Given the description of an element on the screen output the (x, y) to click on. 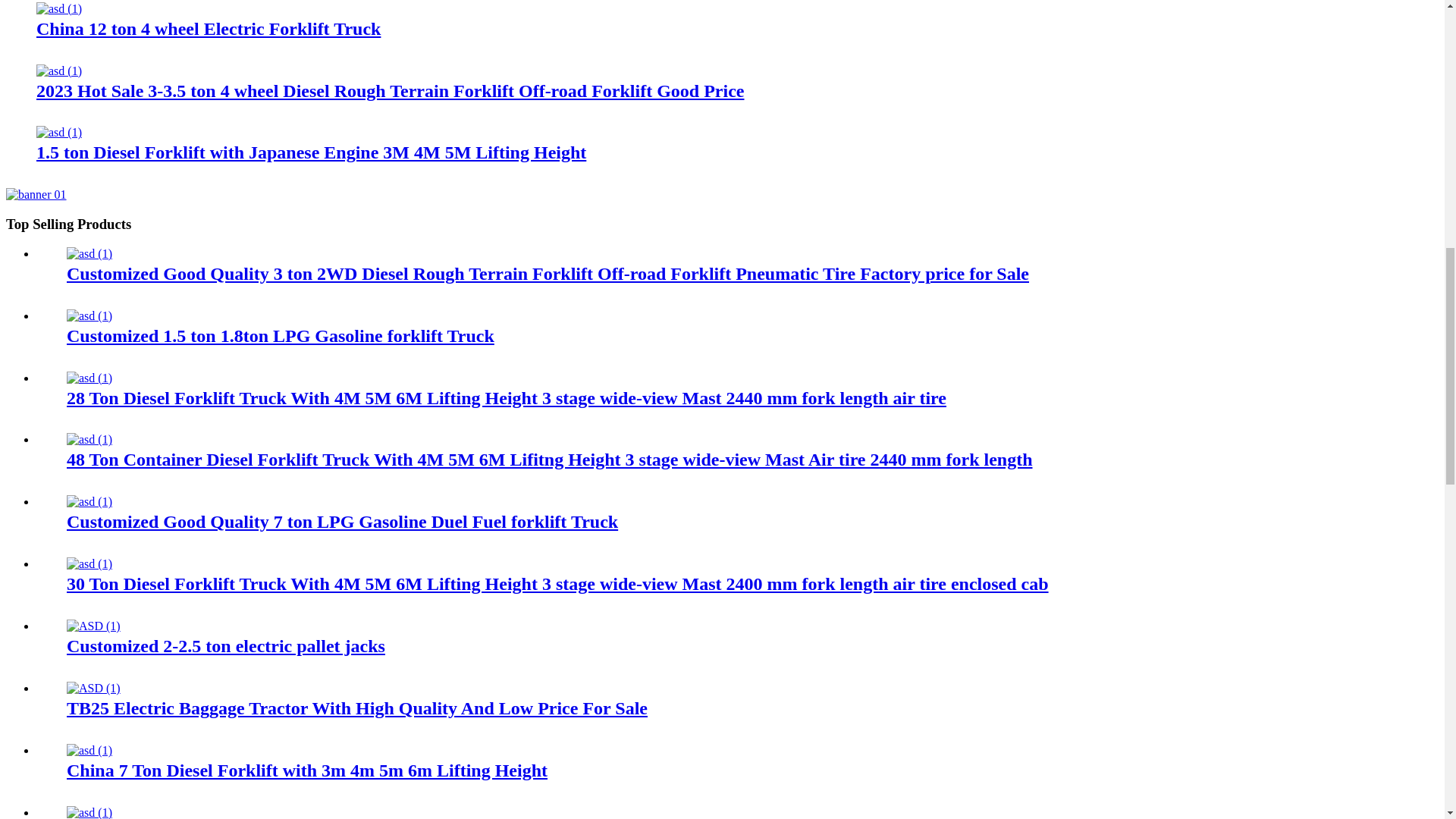
China 12 ton 4 wheel Electric Forklift Truck (58, 8)
China 12 ton 4 wheel Electric Forklift Truck (208, 28)
